Given the description of an element on the screen output the (x, y) to click on. 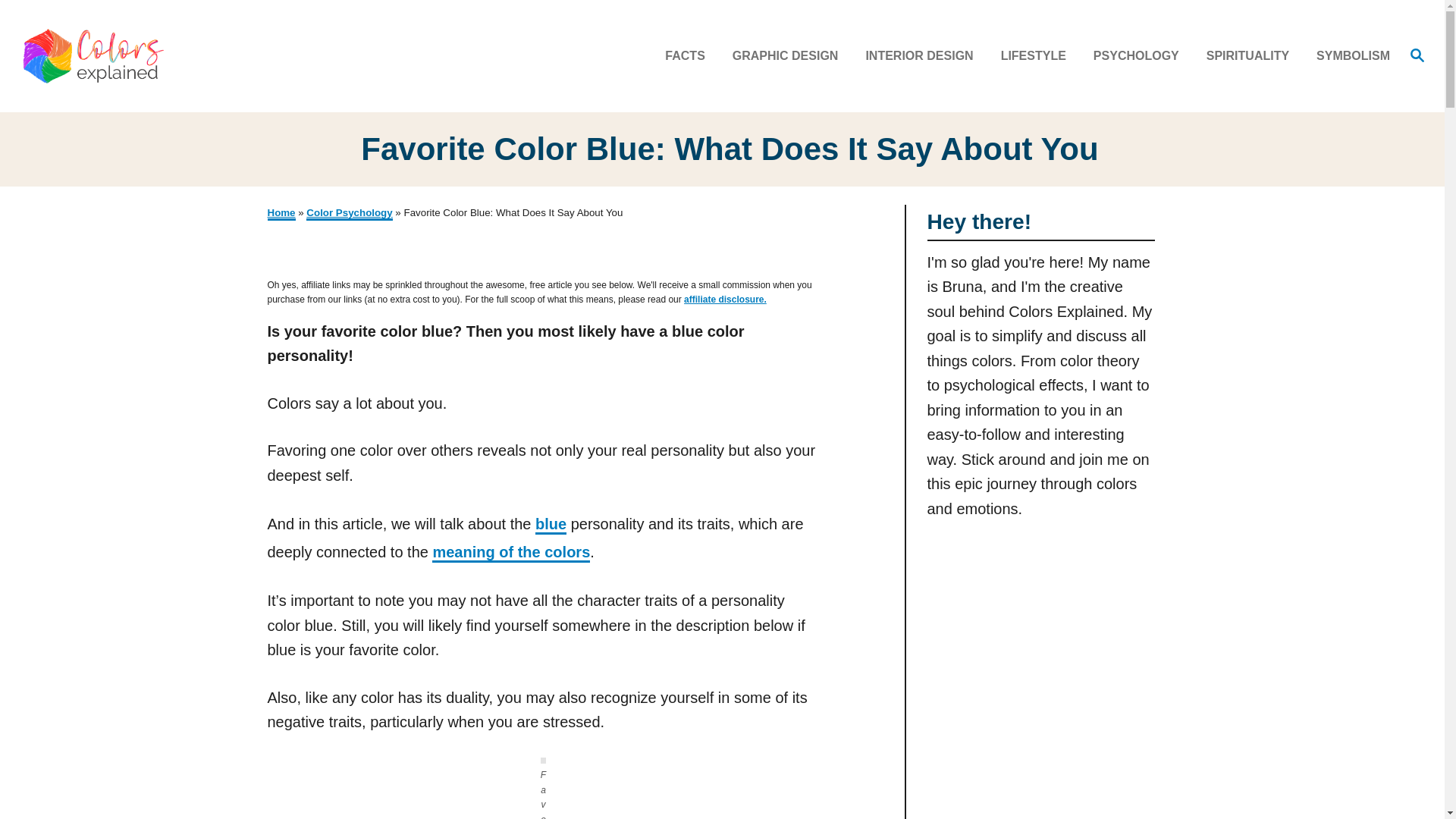
INTERIOR DESIGN (923, 55)
meaning of the colors (510, 552)
LIFESTYLE (1037, 55)
affiliate disclosure. (725, 299)
SYMBOLISM (1348, 55)
blue (550, 524)
PSYCHOLOGY (1140, 55)
Home (280, 213)
GRAPHIC DESIGN (790, 55)
SPIRITUALITY (1251, 55)
